Given the description of an element on the screen output the (x, y) to click on. 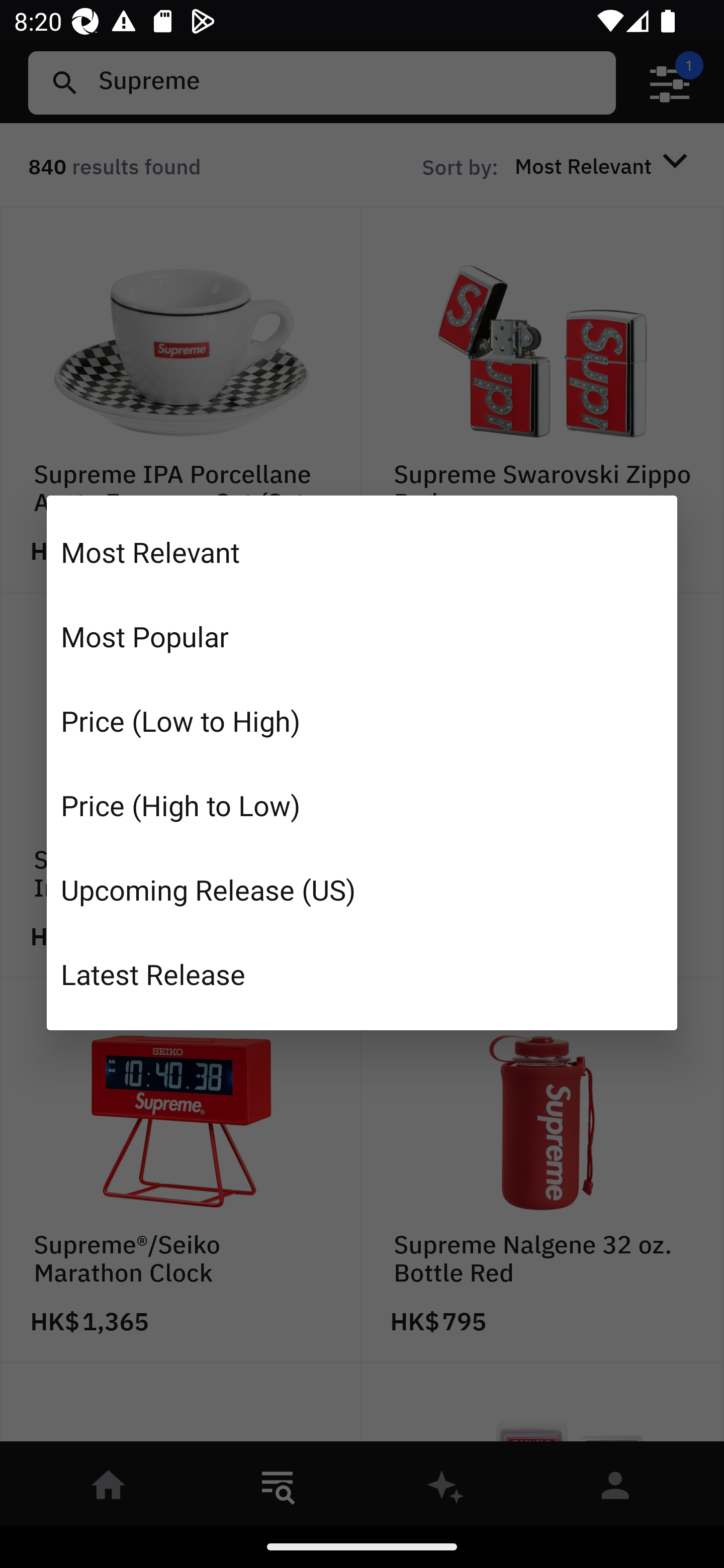
Most Relevant (361, 551)
Most Popular (361, 636)
Price (Low to High) (361, 720)
Price (High to Low) (361, 804)
Upcoming Release (US) (361, 888)
Latest Release (361, 973)
